Given the description of an element on the screen output the (x, y) to click on. 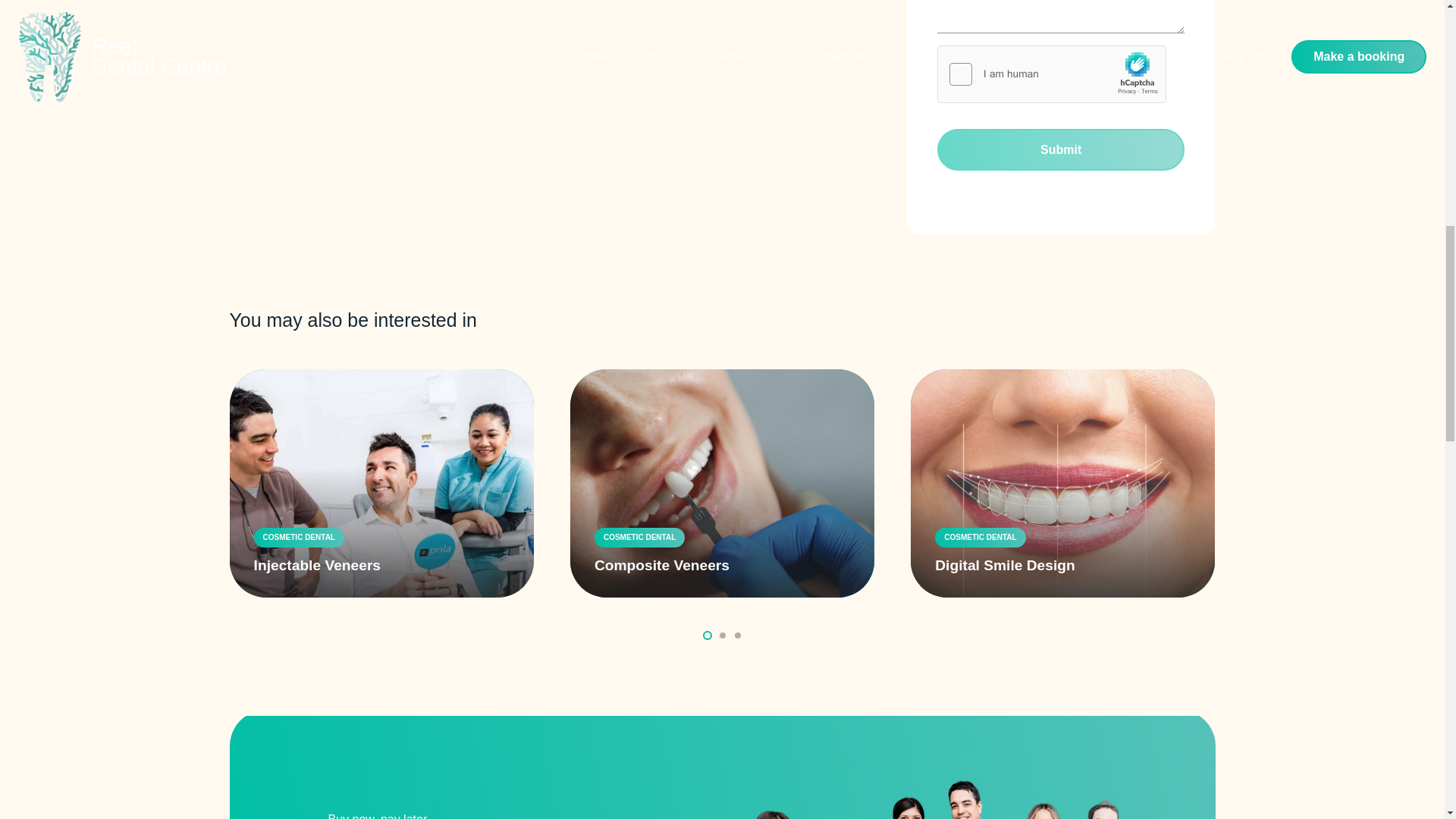
Widget containing checkbox for hCaptcha security challenge (1052, 74)
Submit (1060, 149)
Digital Smile Design (1004, 565)
Composite Veneers (661, 565)
Injectable Veneers (316, 565)
Submit (1060, 149)
